Given the description of an element on the screen output the (x, y) to click on. 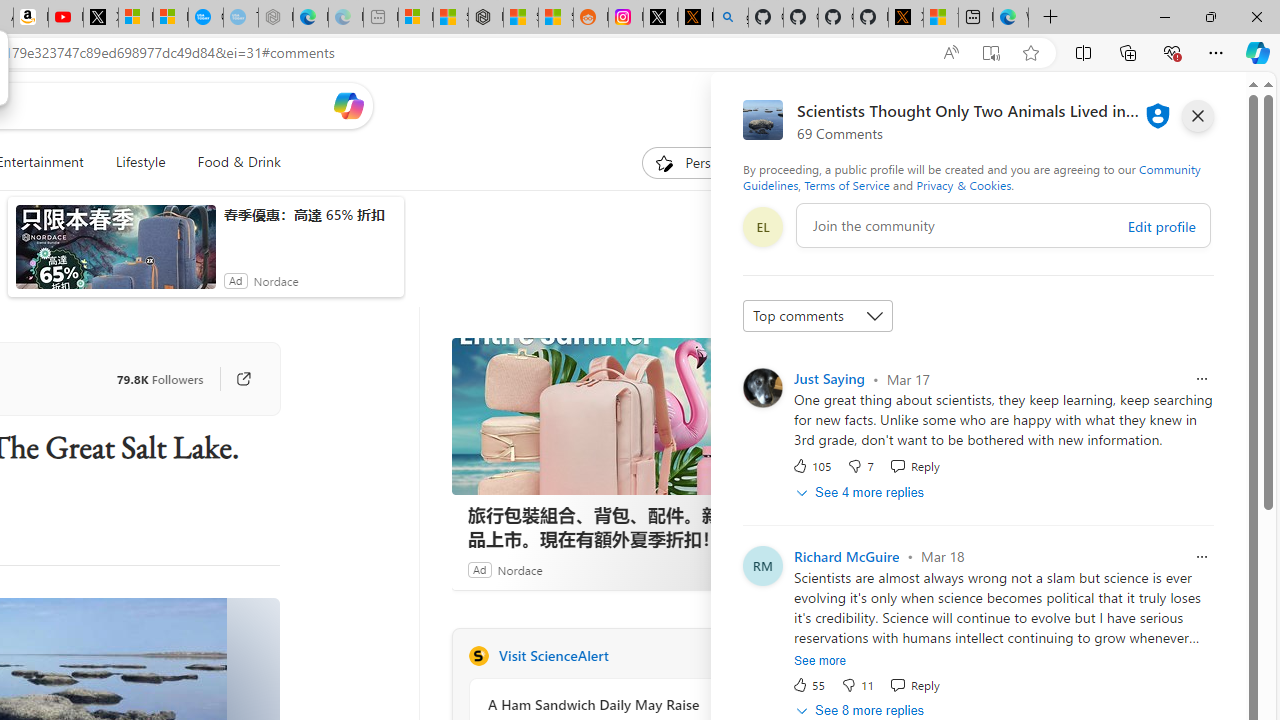
Go to publisher's site (243, 378)
Terms of Service (846, 184)
Open Copilot (347, 105)
comment-box (1003, 225)
Lifestyle (140, 162)
Notifications (1176, 105)
55 Like (808, 683)
